Given the description of an element on the screen output the (x, y) to click on. 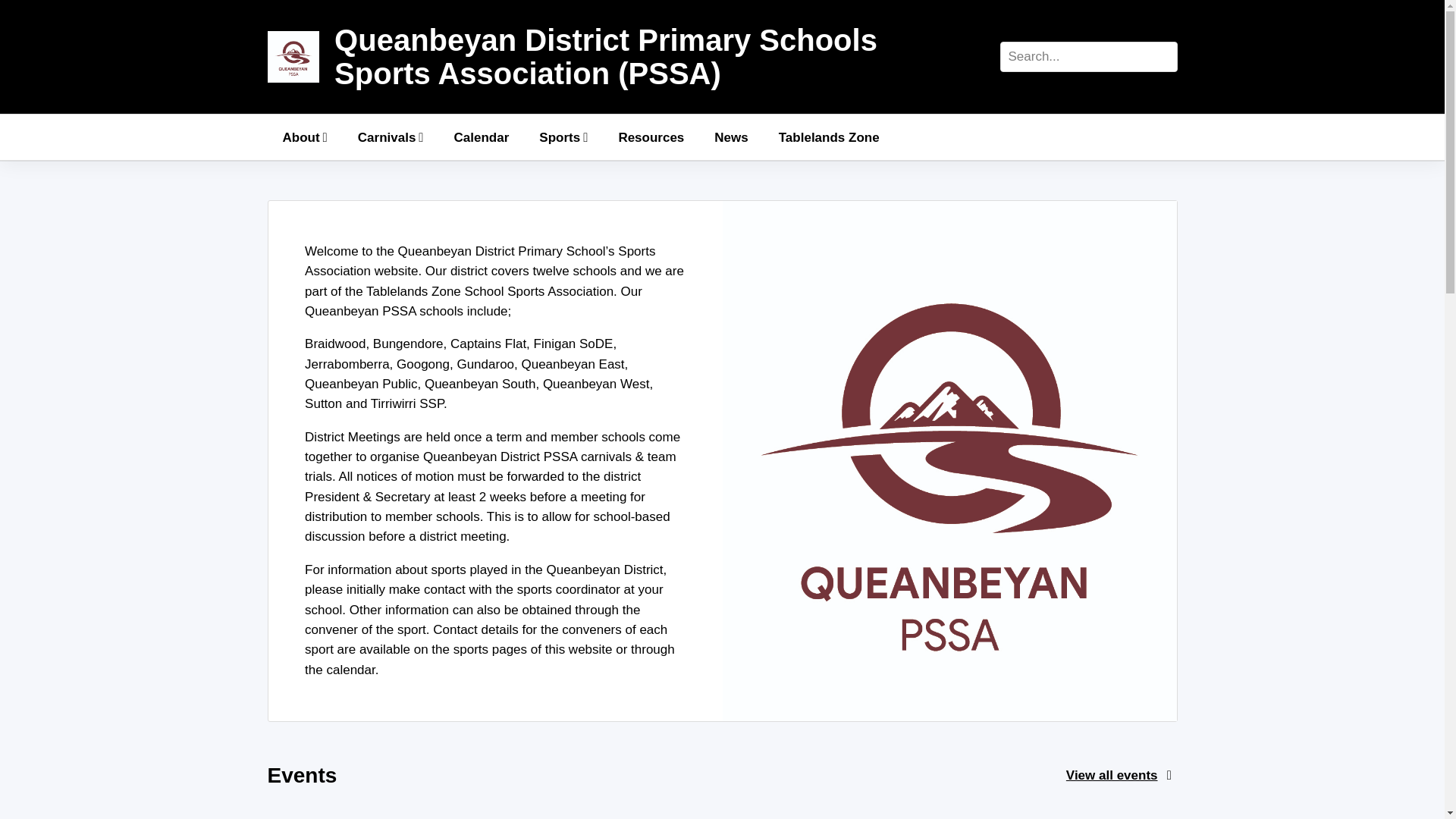
View all events (1111, 775)
News (730, 136)
Resources (650, 136)
Search for: (1087, 56)
About (304, 136)
Tablelands Zone (828, 136)
Carnivals (390, 136)
Calendar (481, 136)
Sports (563, 136)
Search (44, 15)
